Given the description of an element on the screen output the (x, y) to click on. 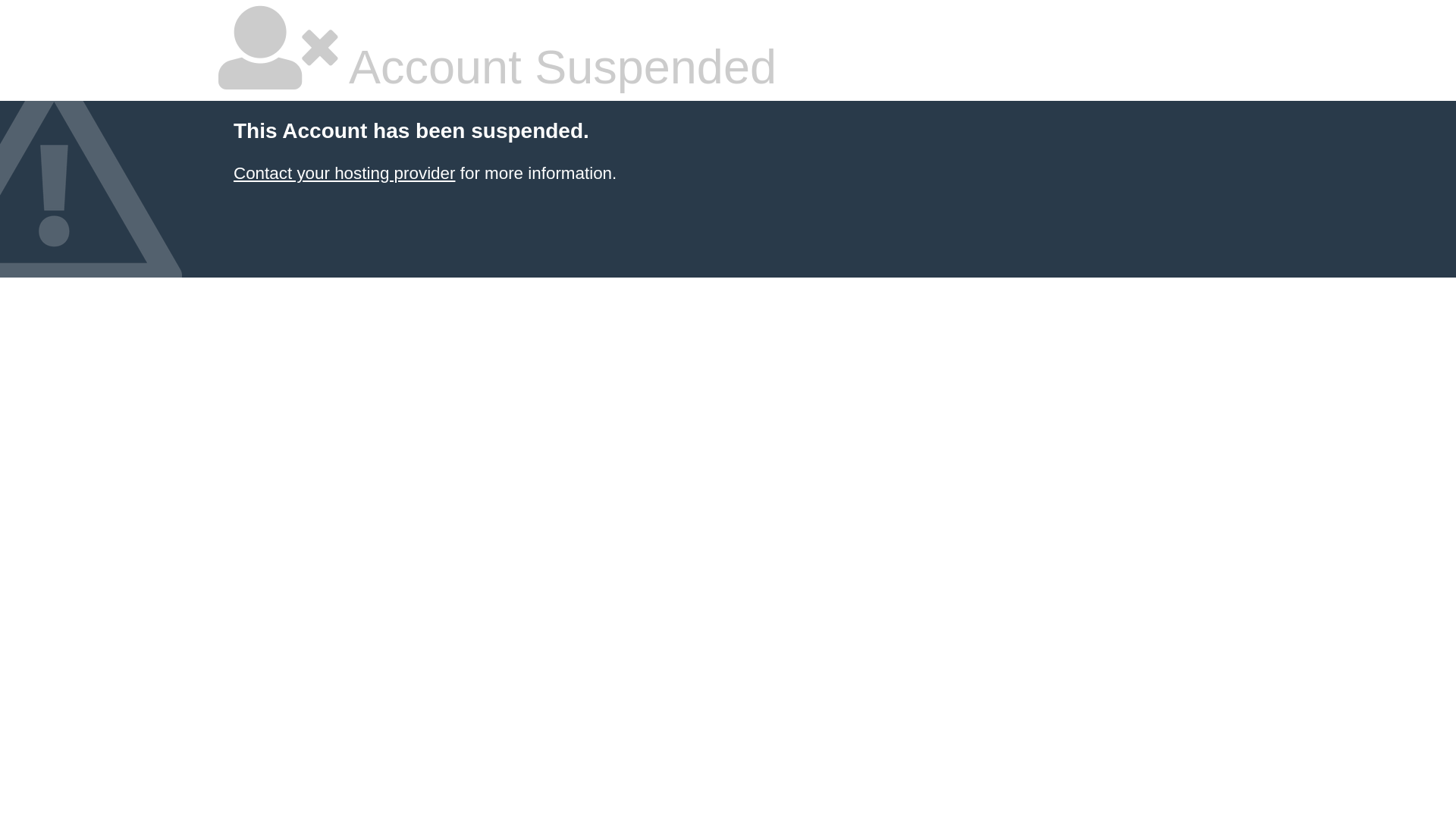
Contact your hosting provider Element type: text (344, 172)
